Given the description of an element on the screen output the (x, y) to click on. 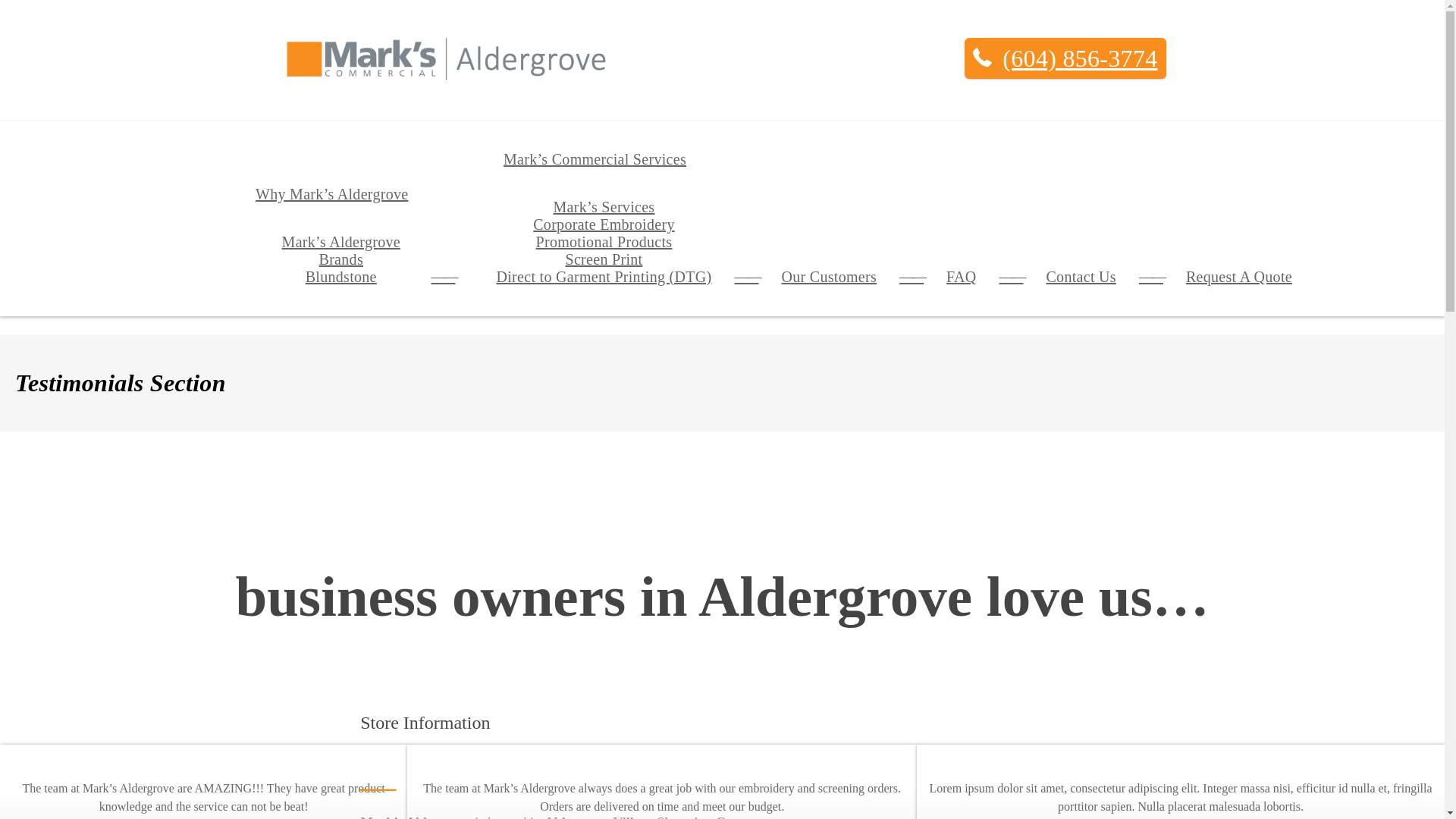
Contact Us (1079, 251)
Screen Print (603, 196)
Mark's Commercial Services (594, 158)
Brands (340, 258)
Our Customers (829, 276)
Blundstone (341, 161)
Why Mark's Aldergrove (331, 193)
Screen Print (603, 258)
Promotional Products (604, 175)
FAQ (960, 243)
FAQ (960, 276)
Corporate Embroidery (603, 224)
Corporate Embroidery (603, 146)
Our Customers (829, 234)
Mark's Services (603, 206)
